Given the description of an element on the screen output the (x, y) to click on. 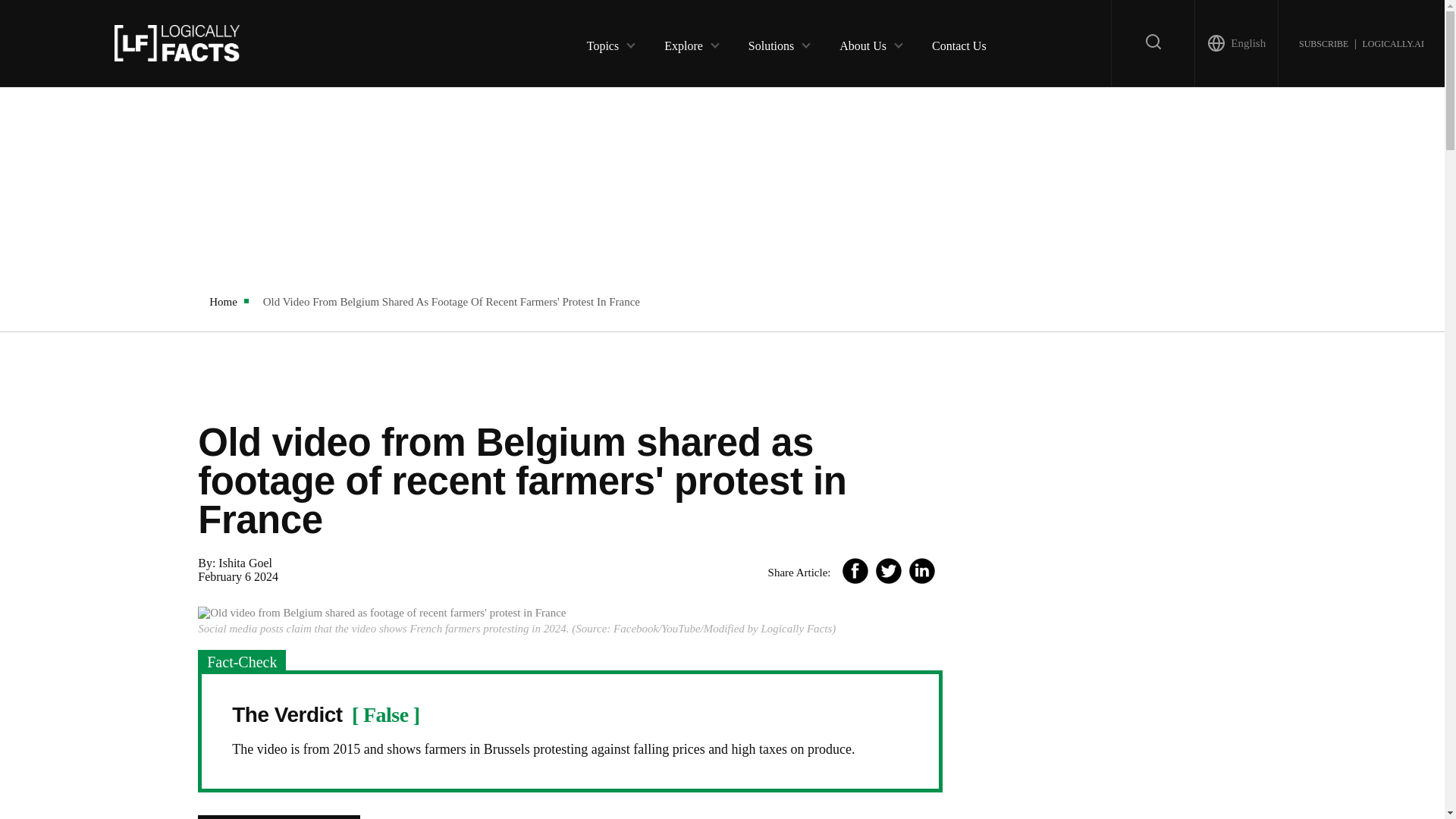
Topics (602, 42)
Home (223, 301)
Solutions (770, 42)
Explore (683, 42)
About Us (863, 42)
Contact Us (959, 42)
LOGICALLY.AI (1392, 42)
SUBSCRIBE (1323, 42)
